Given the description of an element on the screen output the (x, y) to click on. 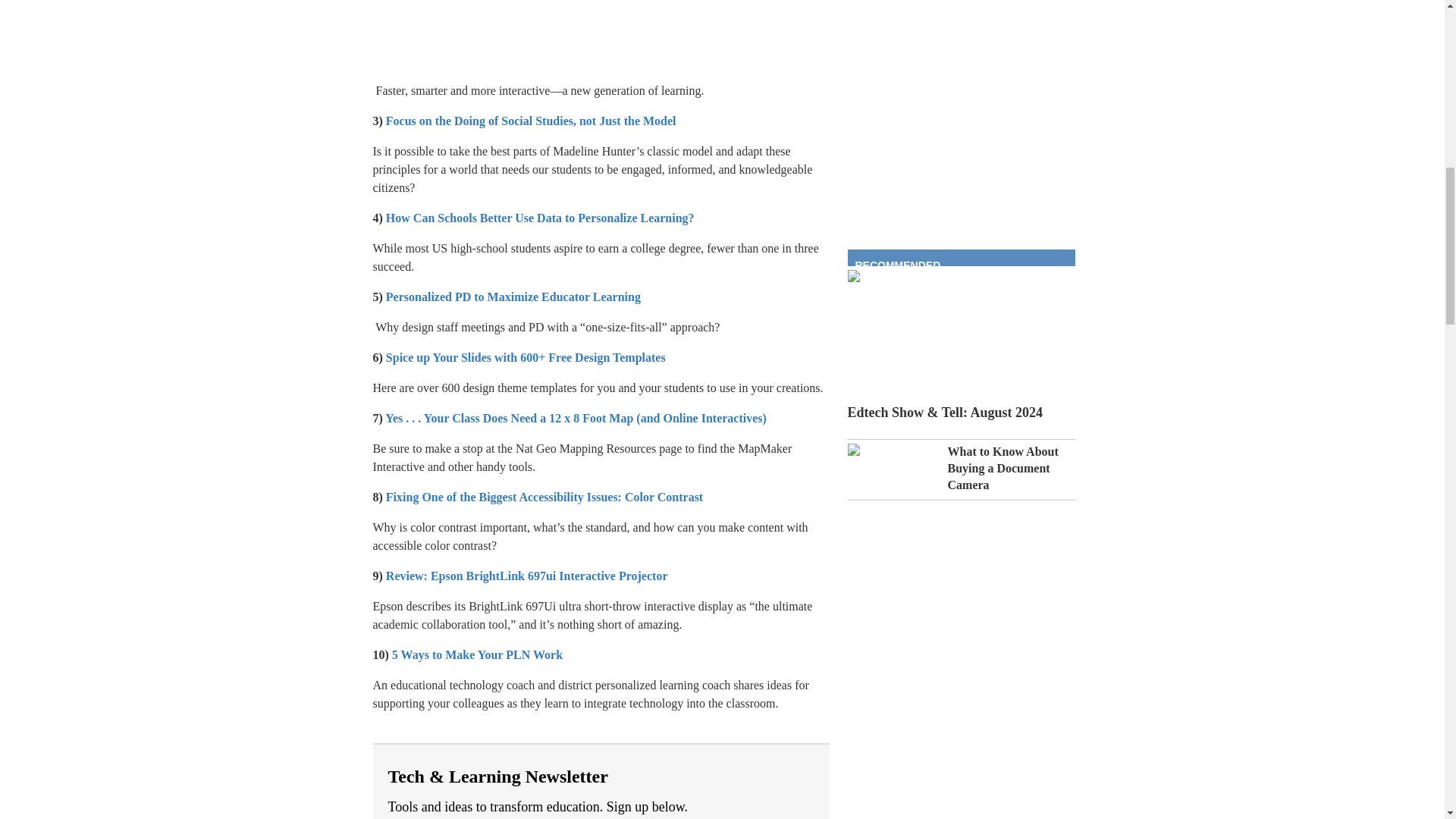
Focus on the Doing of Social Studies, not Just the Model  (532, 120)
Personalized PD to Maximize Educator Learning  (514, 296)
How Can Schools Better Use Data to Personalize Learning?  (541, 217)
